Given the description of an element on the screen output the (x, y) to click on. 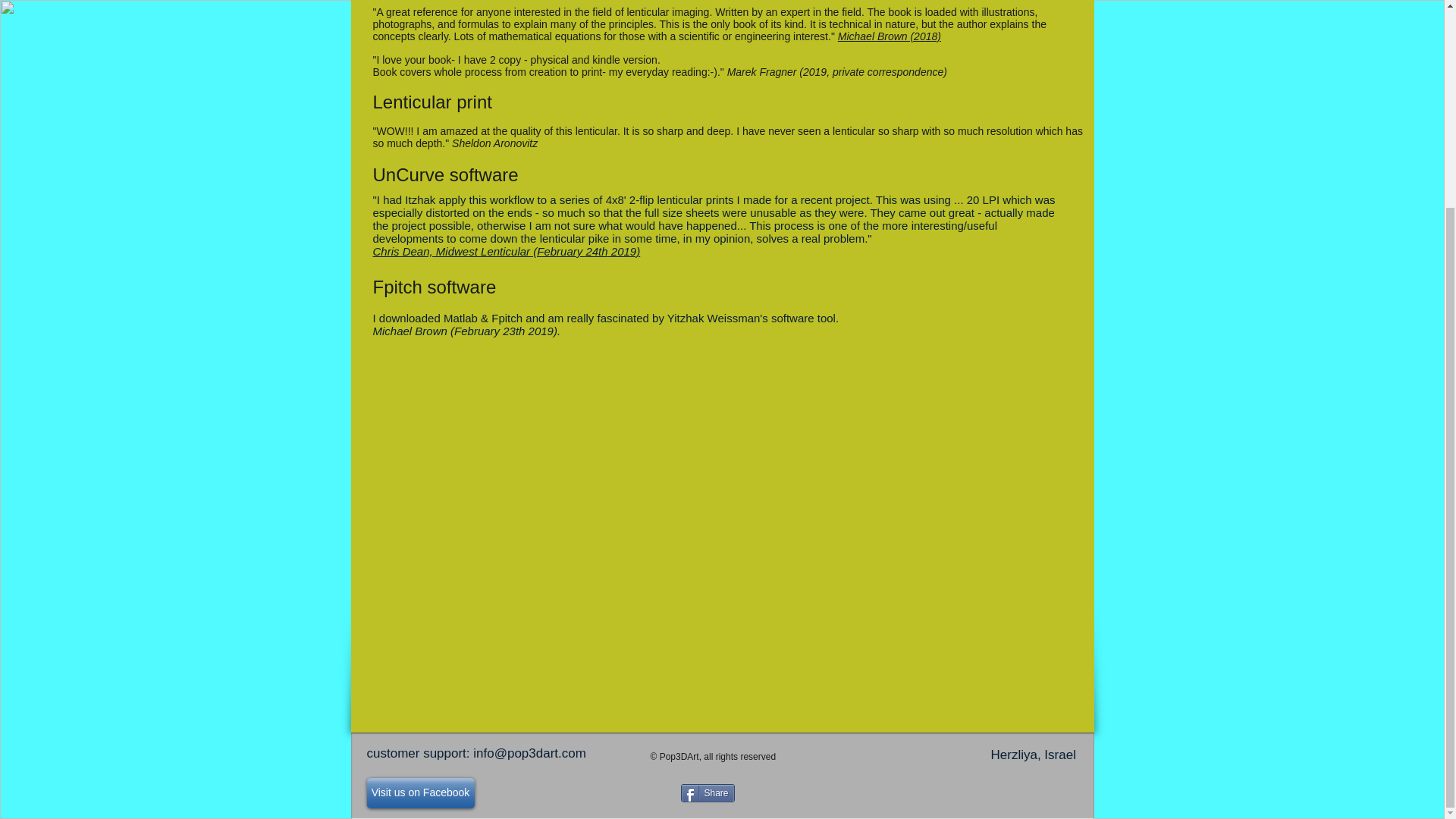
Share (708, 792)
Yitzhak Weissman (713, 318)
Share (708, 792)
24th (596, 250)
Visit us on Facebook (420, 793)
